Given the description of an element on the screen output the (x, y) to click on. 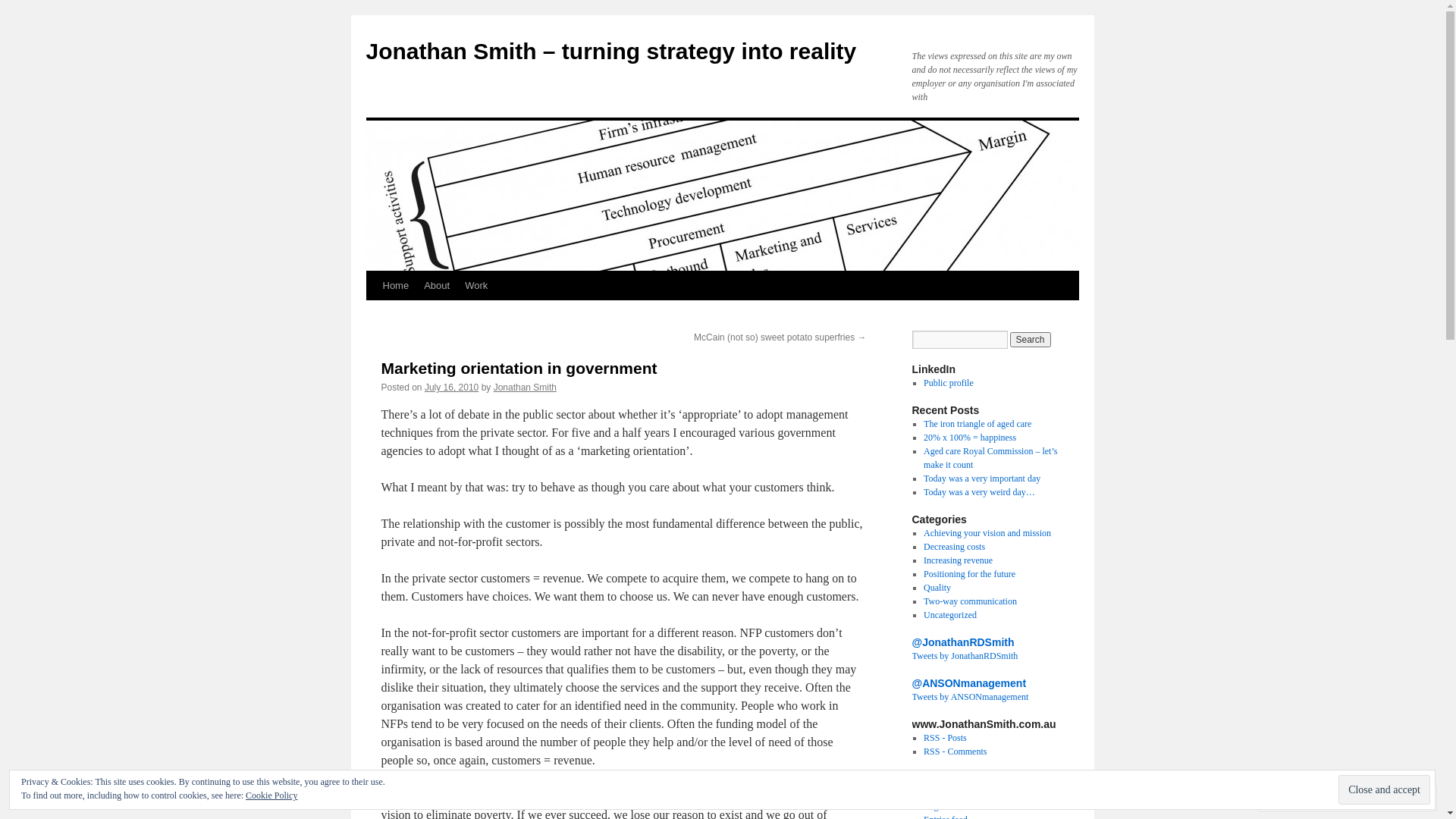
About Element type: text (436, 285)
RSS - Comments Element type: text (954, 751)
Tweets by ANSONmanagement Element type: text (969, 696)
Tweets by JonathanRDSmith Element type: text (964, 655)
@ANSONmanagement Element type: text (968, 683)
Cookie Policy Element type: text (271, 795)
Follow Element type: text (1374, 797)
Log in Element type: text (935, 805)
Two-way communication Element type: text (969, 601)
Register Element type: text (938, 792)
Home Element type: text (395, 285)
The iron triangle of aged care Element type: text (977, 423)
Positioning for the future Element type: text (969, 573)
Today was a very important day Element type: text (981, 478)
Close and accept Element type: text (1384, 789)
Achieving your vision and mission Element type: text (987, 532)
Decreasing costs Element type: text (954, 546)
Marketing orientation in government Element type: text (518, 367)
Increasing revenue Element type: text (957, 560)
RSS - Posts Element type: text (944, 737)
Work Element type: text (476, 285)
Public profile Element type: text (948, 382)
20% x 100% = happiness Element type: text (969, 437)
Jonathan Smith Element type: text (524, 387)
Uncategorized Element type: text (949, 614)
@JonathanRDSmith Element type: text (962, 642)
Quality Element type: text (936, 587)
Comment Element type: text (1299, 797)
Search Element type: text (1030, 339)
July 16, 2010 Element type: text (451, 387)
